Given the description of an element on the screen output the (x, y) to click on. 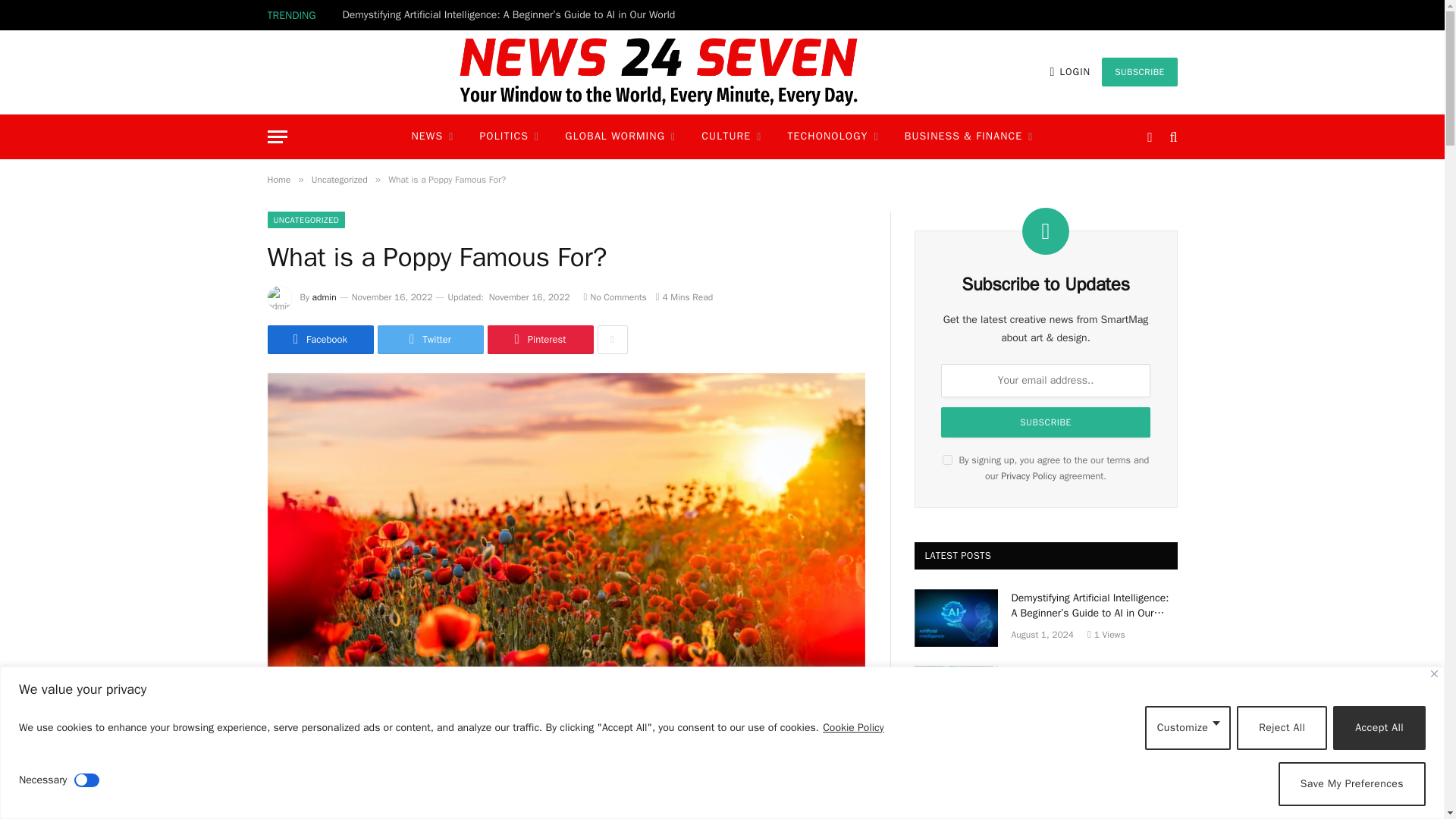
Save My Preferences (1351, 783)
Customize (1187, 727)
on (947, 460)
News24seven (708, 71)
Cookie Policy (853, 727)
Accept All (1379, 727)
Subscribe (1045, 422)
on (86, 780)
Reject All (1281, 727)
